Given the description of an element on the screen output the (x, y) to click on. 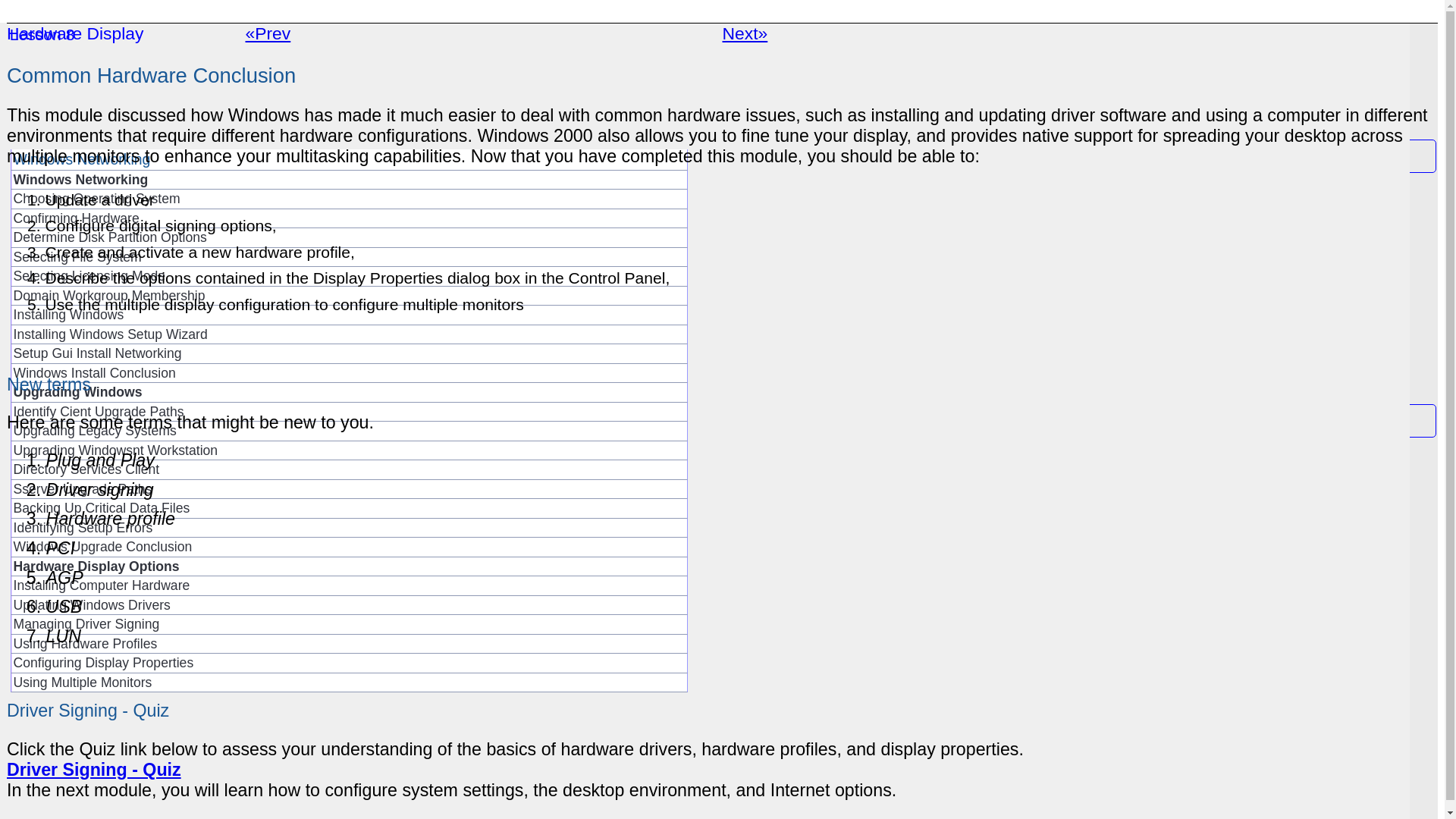
Updating Windows Drivers (349, 605)
Configuring Display Properties (349, 662)
Search (582, 42)
Choosing Operating System (349, 198)
Upgrading Windows (349, 392)
Upgrading Windowsnt Workstation (349, 450)
Windows Networking (349, 159)
Windows Install Conclusion (349, 373)
Installing Windows Setup Wizard (349, 334)
Windows Networking (349, 179)
Setup Gui Install Networking (349, 353)
Hardware Display Options (349, 566)
Using Hardware Profiles (349, 643)
Determine Disk Partition Options (349, 237)
Confirming Hardware (349, 218)
